Given the description of an element on the screen output the (x, y) to click on. 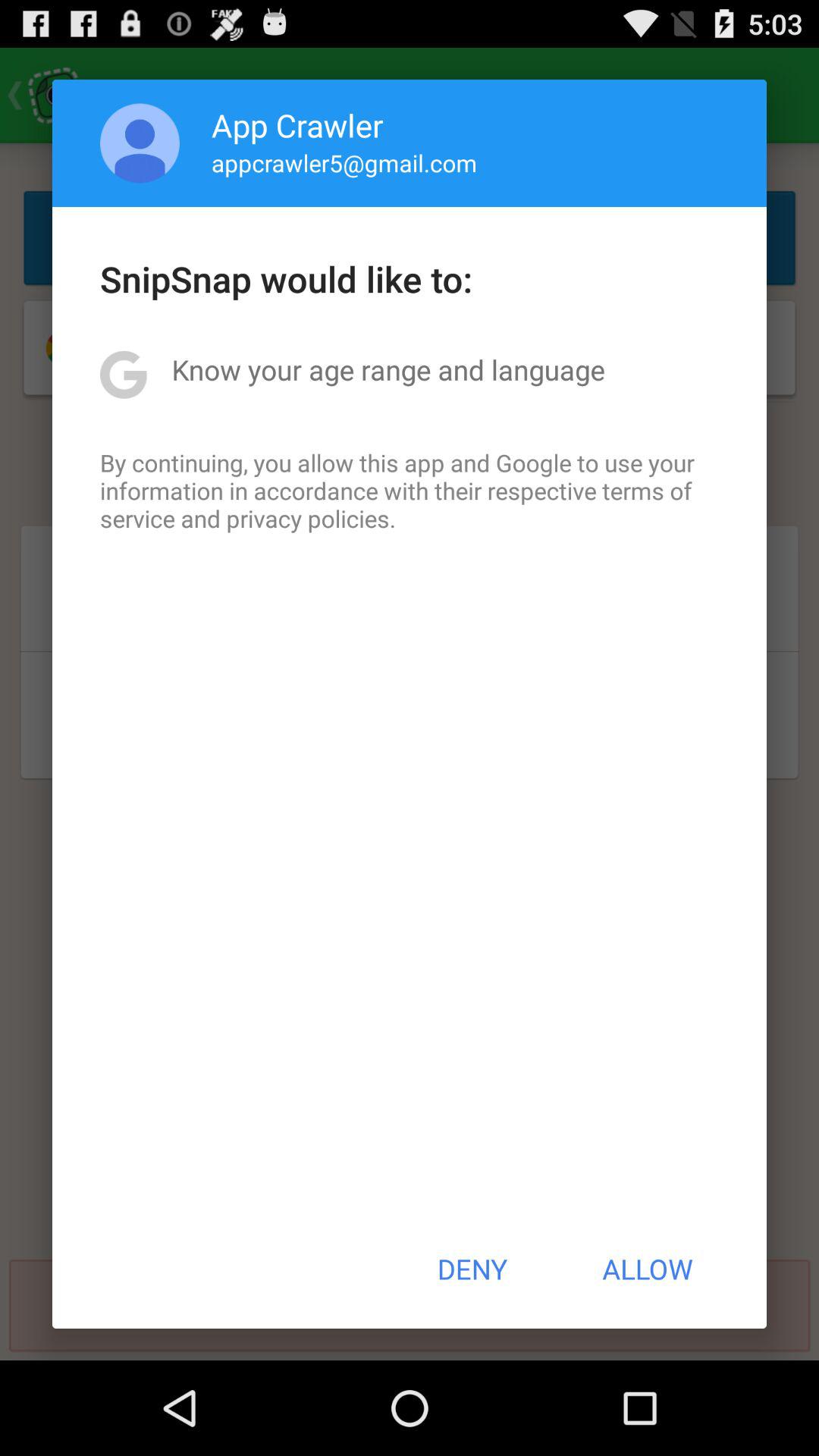
swipe to appcrawler5@gmail.com item (344, 162)
